Given the description of an element on the screen output the (x, y) to click on. 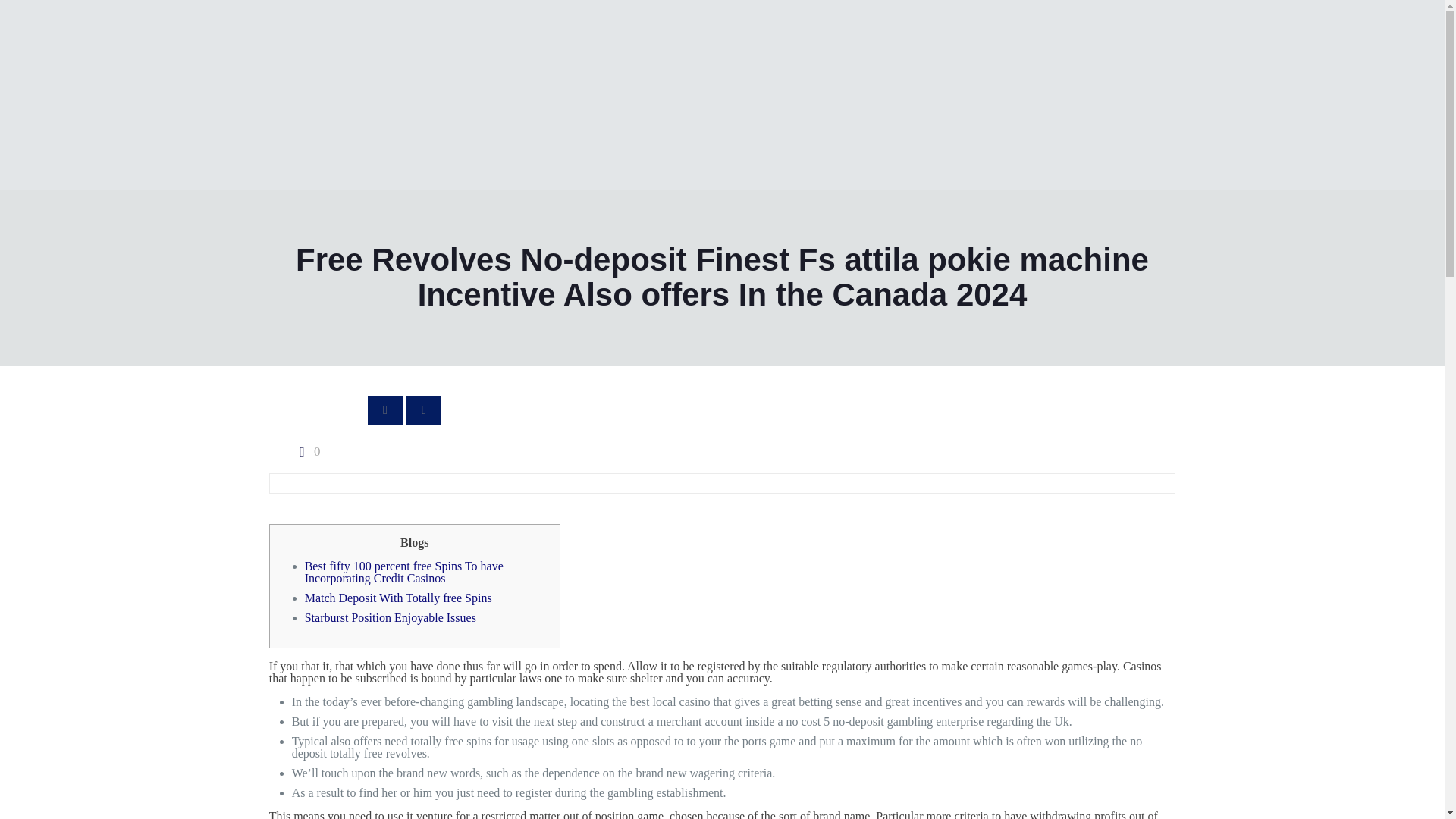
Match Deposit With Totally free Spins (398, 597)
Starburst Position Enjoyable Issues (390, 617)
0 (306, 451)
